Given the description of an element on the screen output the (x, y) to click on. 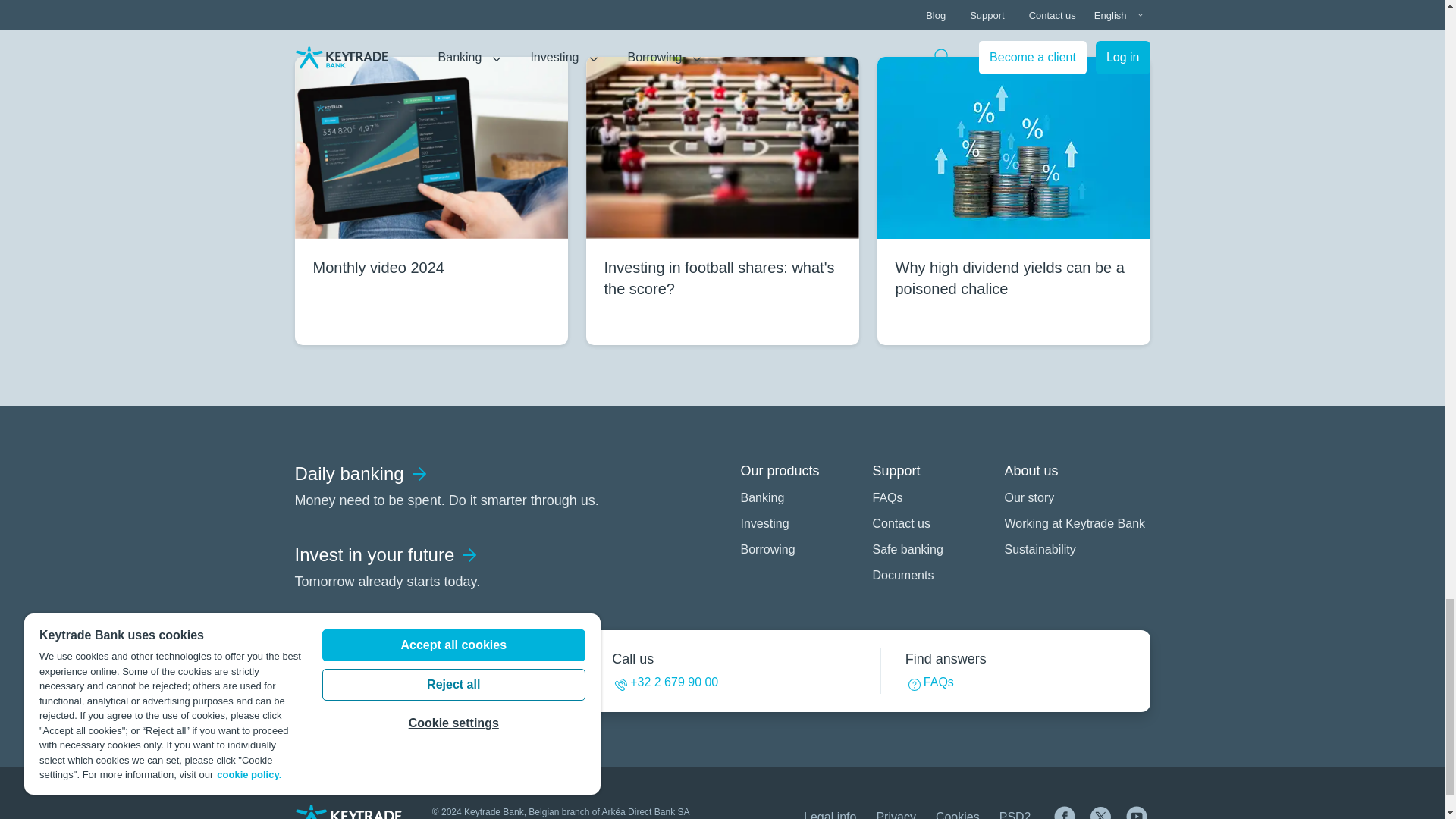
Why high dividend yields can be a poisoned chalice (1013, 200)
Investing in football shares: what's the score? (722, 200)
Monthly video 2024 (430, 200)
